Given the description of an element on the screen output the (x, y) to click on. 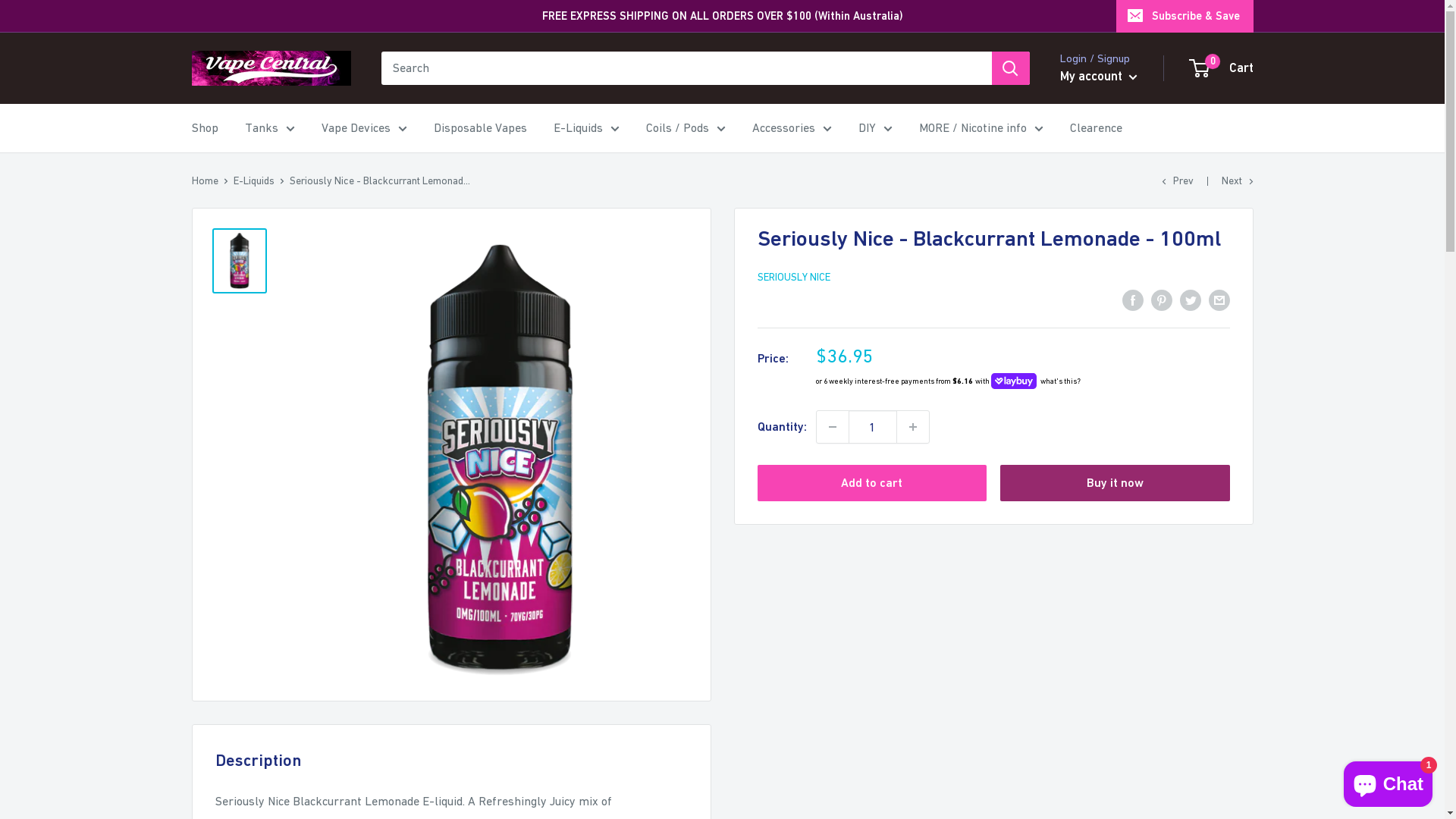
what's this? Element type: text (1058, 380)
Shopify online store chat Element type: hover (1388, 780)
Clearence Element type: text (1095, 127)
MORE / Nicotine info Element type: text (981, 127)
0
Cart Element type: text (1221, 68)
Disposable Vapes Element type: text (480, 127)
My account Element type: text (1098, 76)
Next Element type: text (1236, 180)
Coils / Pods Element type: text (685, 127)
Add to cart Element type: text (871, 482)
E-Liquids Element type: text (253, 180)
SERIOUSLY NICE Element type: text (792, 276)
Decrease quantity by 1 Element type: hover (831, 426)
Increase quantity by 1 Element type: hover (912, 426)
Prev Element type: text (1177, 180)
Subscribe & Save Element type: text (1184, 15)
Vape Devices Element type: text (364, 127)
Tanks Element type: text (269, 127)
DIY Element type: text (875, 127)
Accessories Element type: text (791, 127)
Shop Element type: text (204, 127)
E-Liquids Element type: text (586, 127)
Home Element type: text (204, 180)
Buy it now Element type: text (1115, 482)
